Given the description of an element on the screen output the (x, y) to click on. 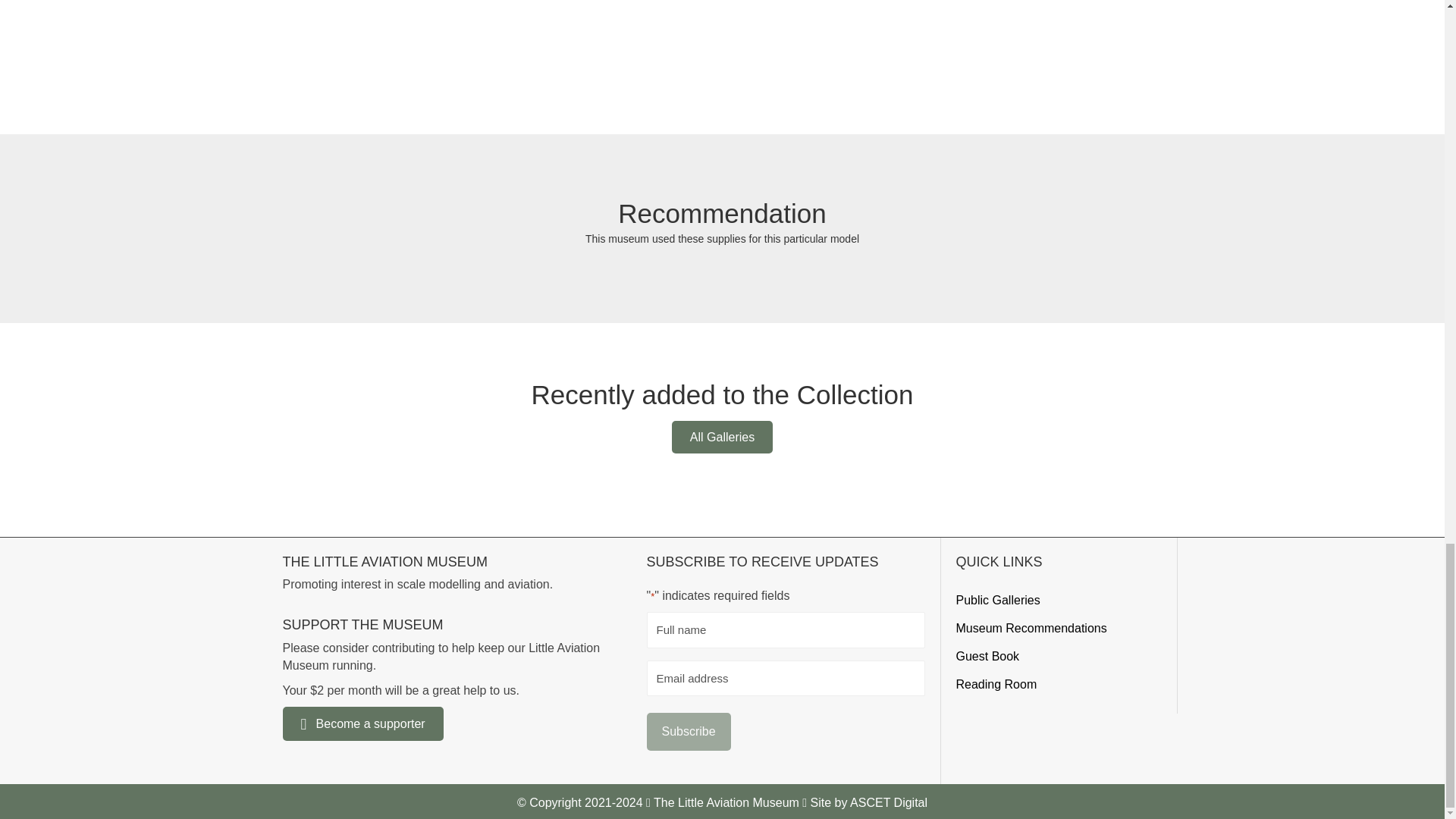
Subscribe (688, 731)
